Given the description of an element on the screen output the (x, y) to click on. 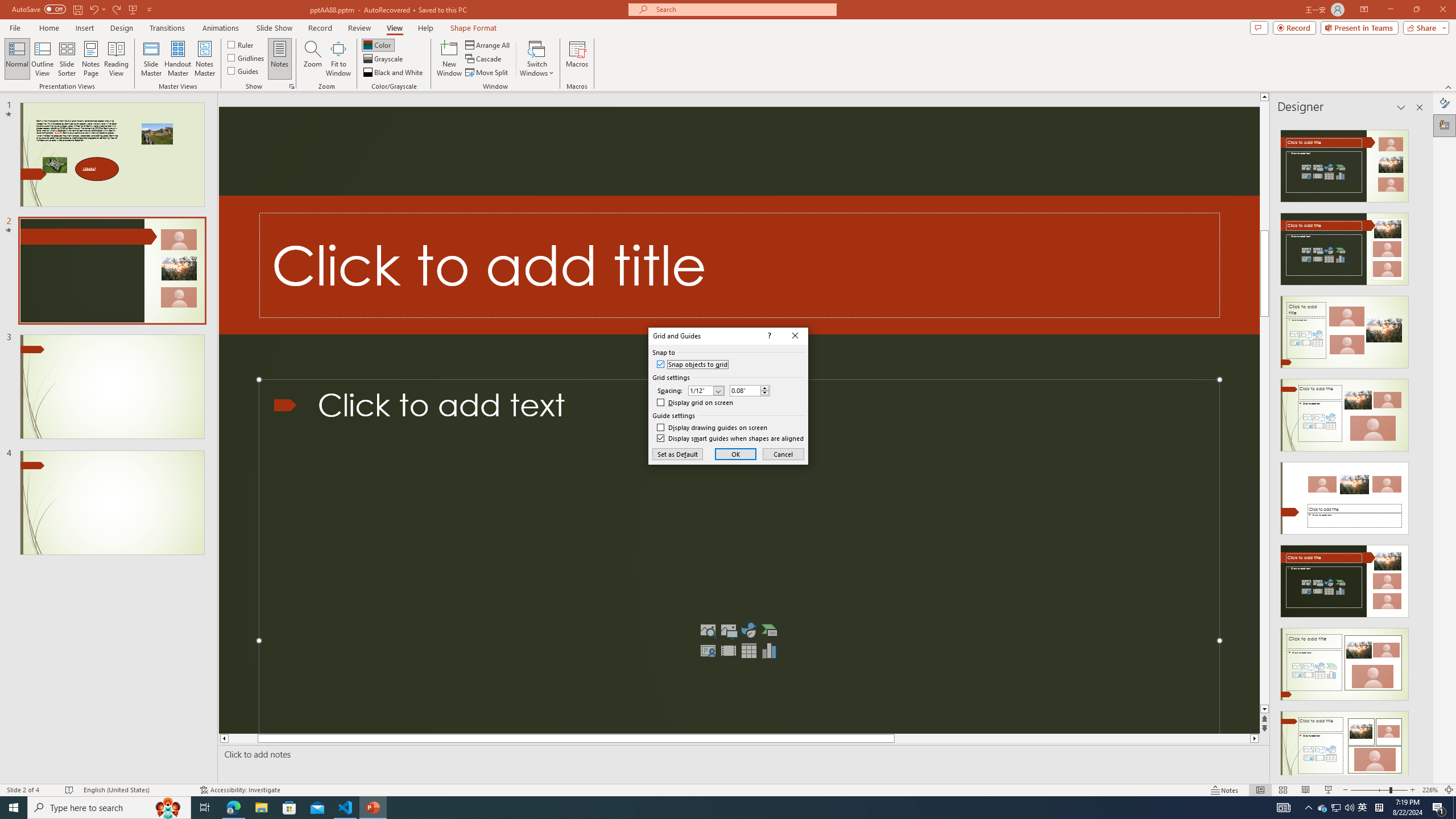
Cancel (783, 453)
Running applications (700, 807)
Slide Master (151, 58)
Notes (279, 58)
Grayscale (383, 58)
Pictures (728, 629)
